Given the description of an element on the screen output the (x, y) to click on. 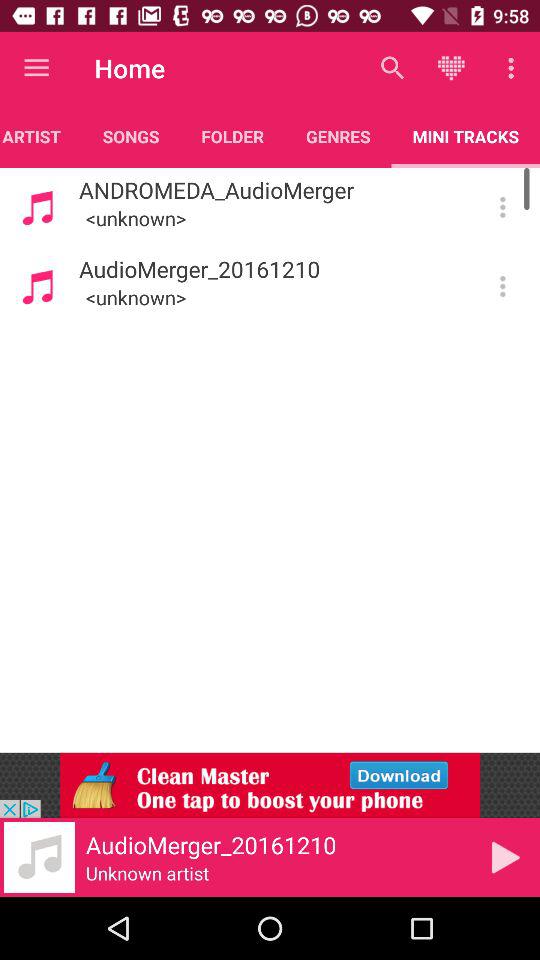
options (502, 286)
